Given the description of an element on the screen output the (x, y) to click on. 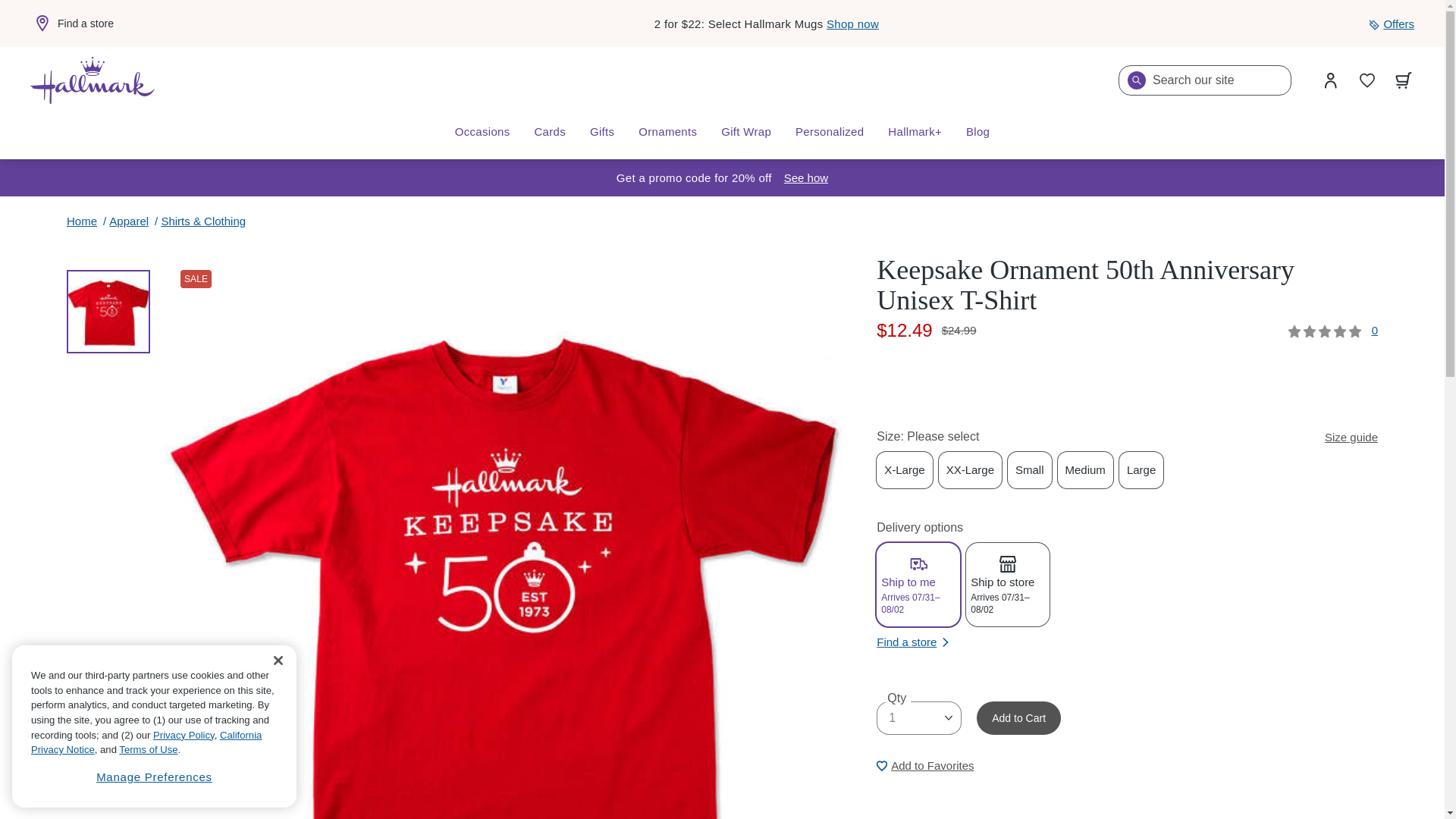
View your cart (1404, 80)
Shop now (853, 22)
Search (1135, 80)
Open shipping dates modal (806, 177)
Favorites (1367, 80)
Find a store (71, 23)
Home page (92, 80)
Offers (1390, 23)
